Given the description of an element on the screen output the (x, y) to click on. 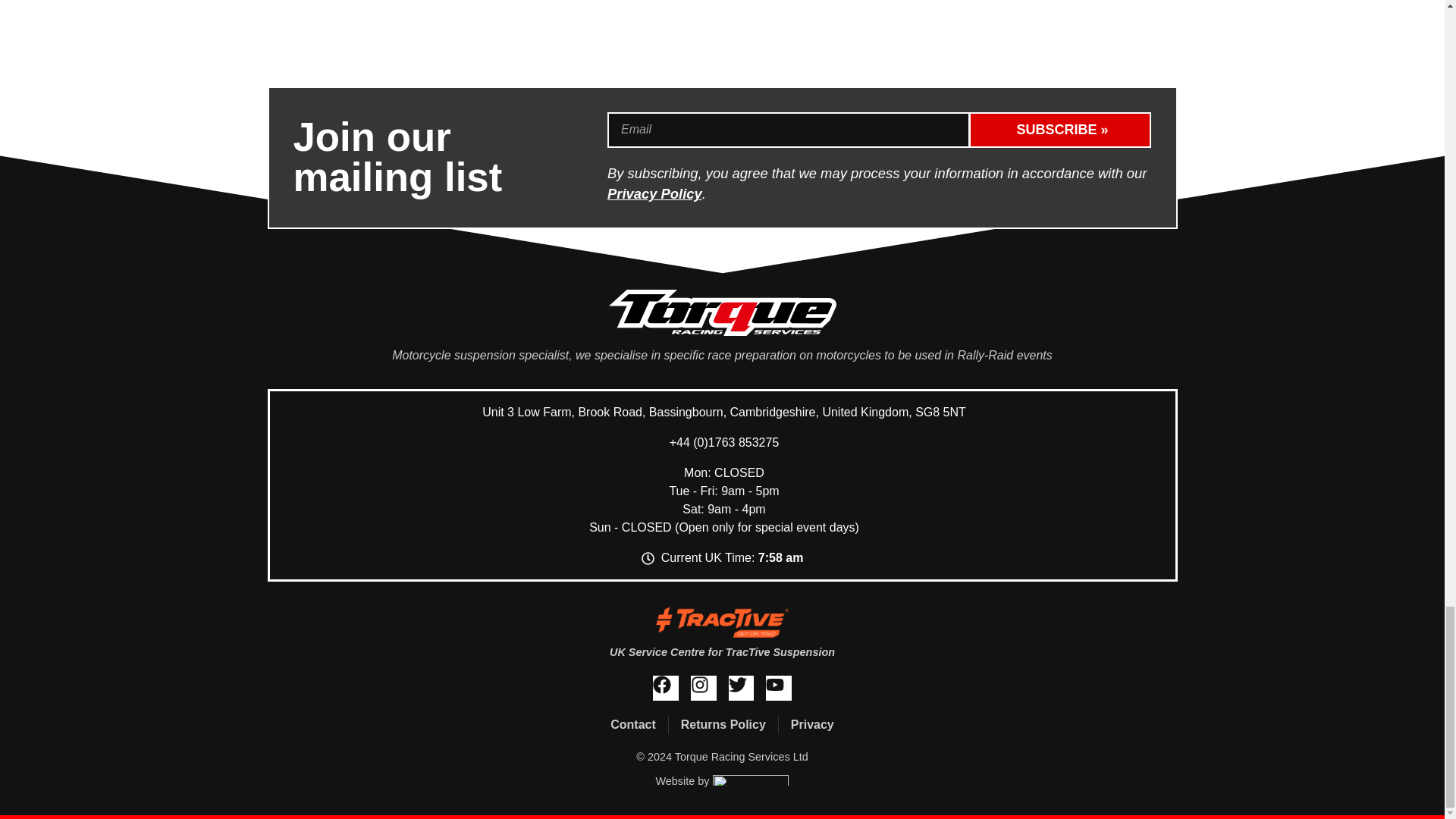
Privacy Policy (654, 193)
Returns Policy (723, 724)
Contact (633, 724)
Privacy (812, 724)
